Given the description of an element on the screen output the (x, y) to click on. 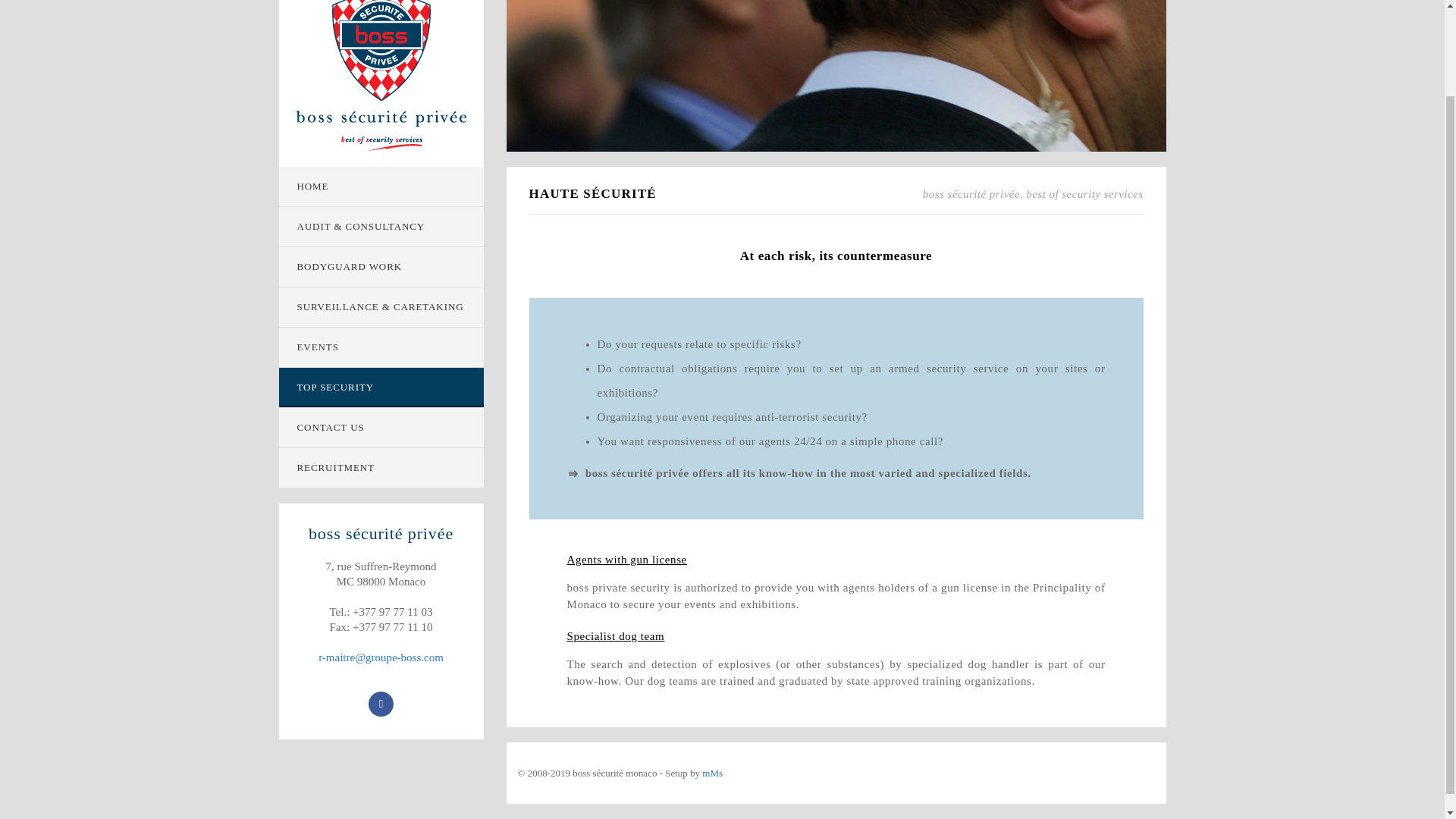
RECRUITMENT (381, 467)
HOME (381, 186)
EVENTS (381, 346)
BODYGUARD WORK (381, 266)
mMs (711, 772)
TOP SECURITY (381, 387)
CONTACT US (381, 427)
